Given the description of an element on the screen output the (x, y) to click on. 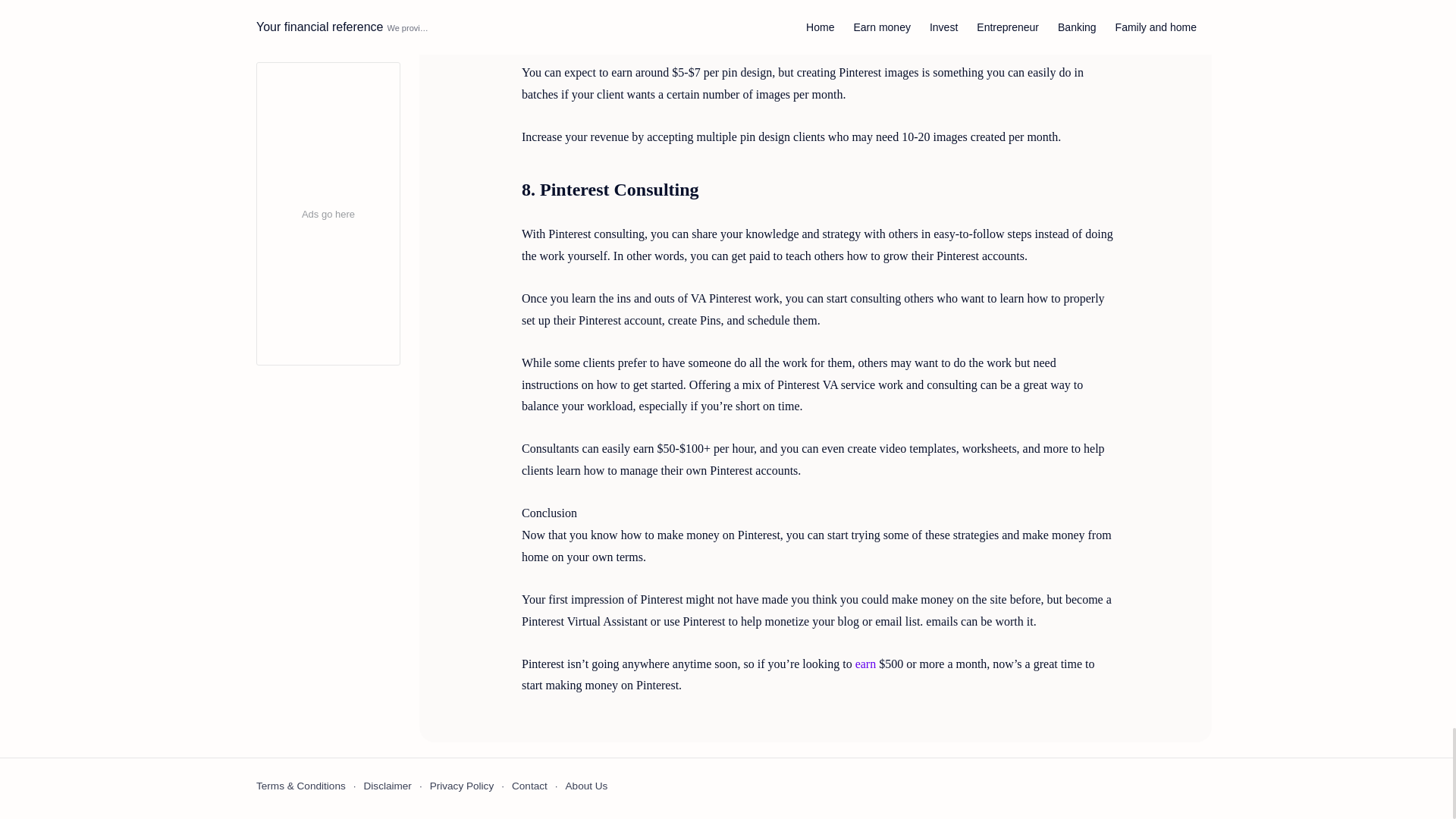
Privacy Policy (462, 786)
About Us (587, 786)
Contact (529, 786)
Disclaimer (388, 786)
earn (866, 663)
